Given the description of an element on the screen output the (x, y) to click on. 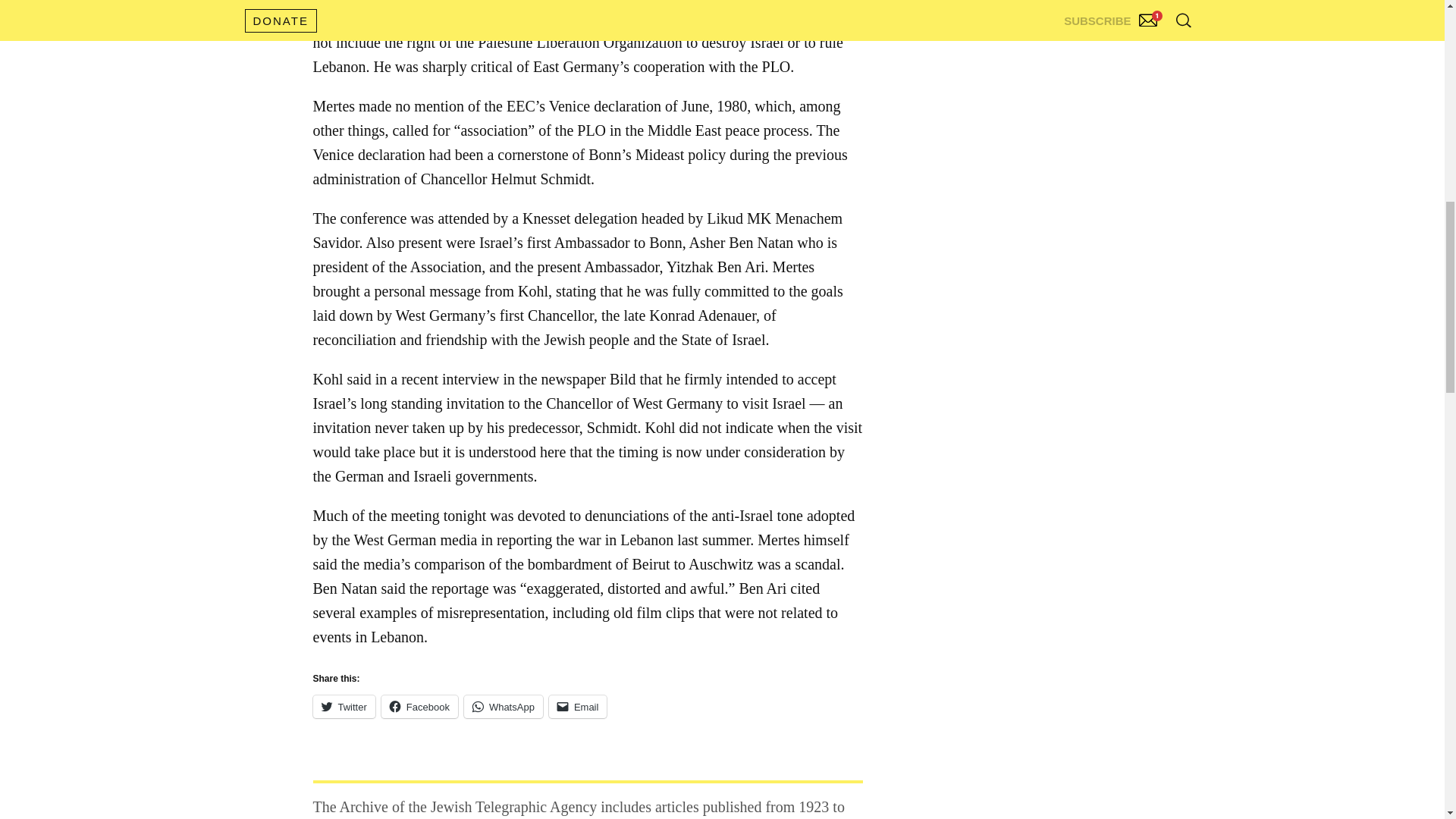
Click to share on Twitter (343, 706)
Click to share on Facebook (419, 706)
Click to share on WhatsApp (503, 706)
Click to email a link to a friend (577, 706)
